Given the description of an element on the screen output the (x, y) to click on. 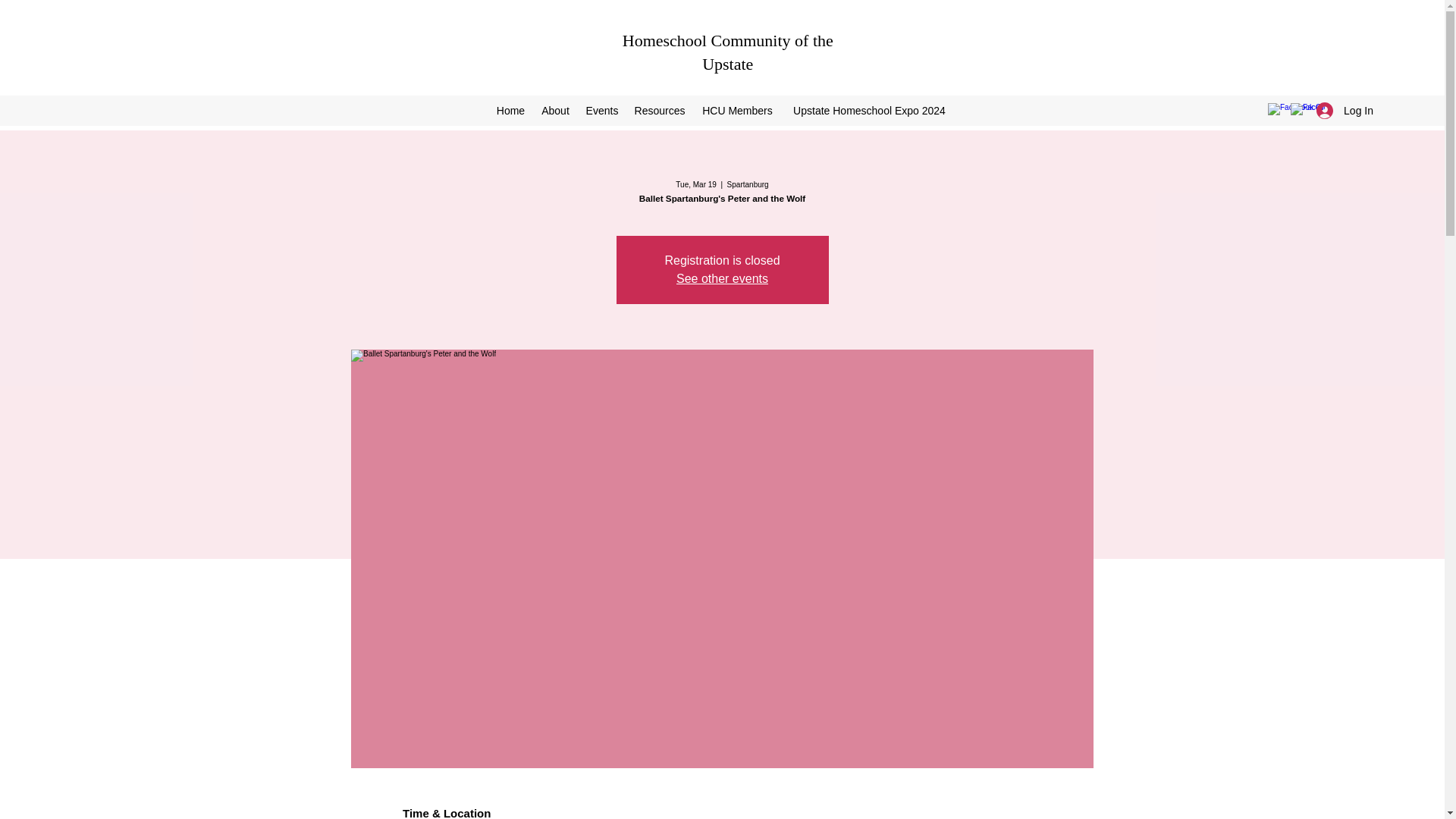
Upstate Homeschool Expo 2024 (868, 110)
Log In (1345, 111)
Home (509, 110)
Homeschool Community of the Upstate (727, 52)
Resources (659, 110)
HCU Members (737, 110)
Events (602, 110)
About (555, 110)
See other events (722, 278)
